Given the description of an element on the screen output the (x, y) to click on. 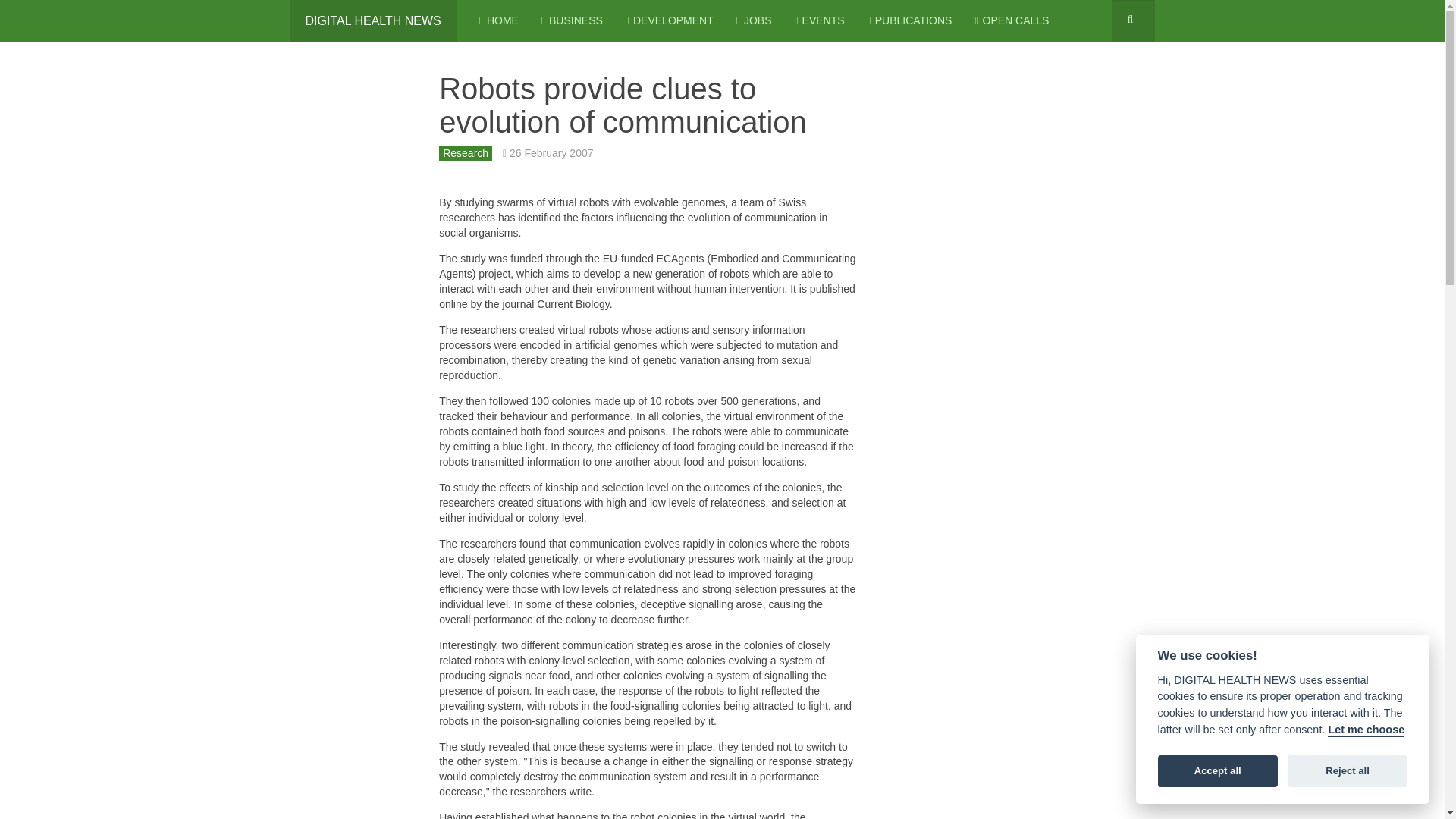
DIGITAL HEALTH NEWS (372, 20)
PUBLICATIONS (909, 20)
EVENTS (818, 20)
BUSINESS (571, 20)
OPEN CALLS (1011, 20)
Research (465, 152)
HOME (498, 20)
DIGITAL HEALTH NEWS (372, 20)
DEVELOPMENT (669, 20)
